Given the description of an element on the screen output the (x, y) to click on. 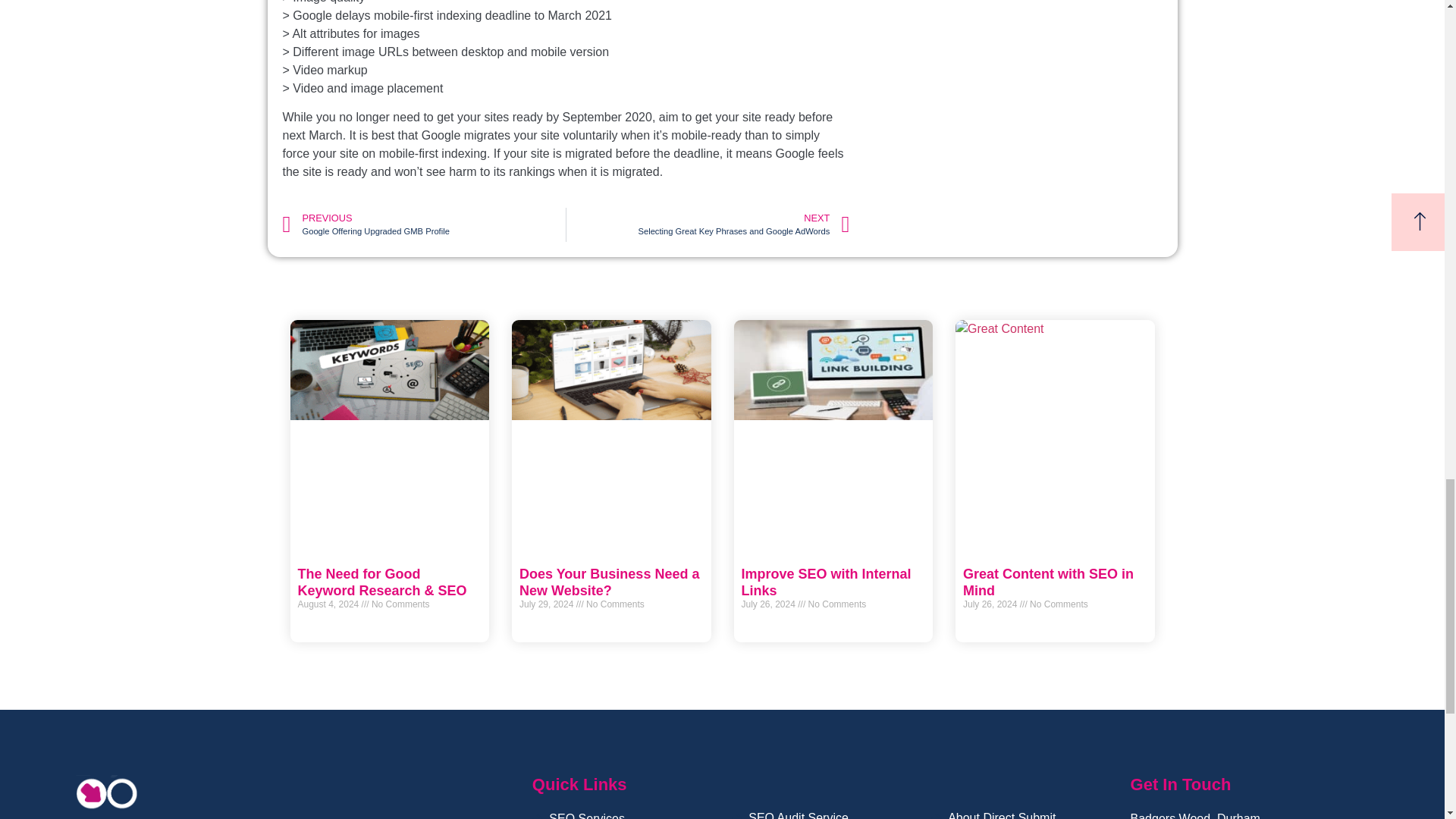
Does Your Business Need a New Website? (608, 582)
arrow (707, 224)
